Given the description of an element on the screen output the (x, y) to click on. 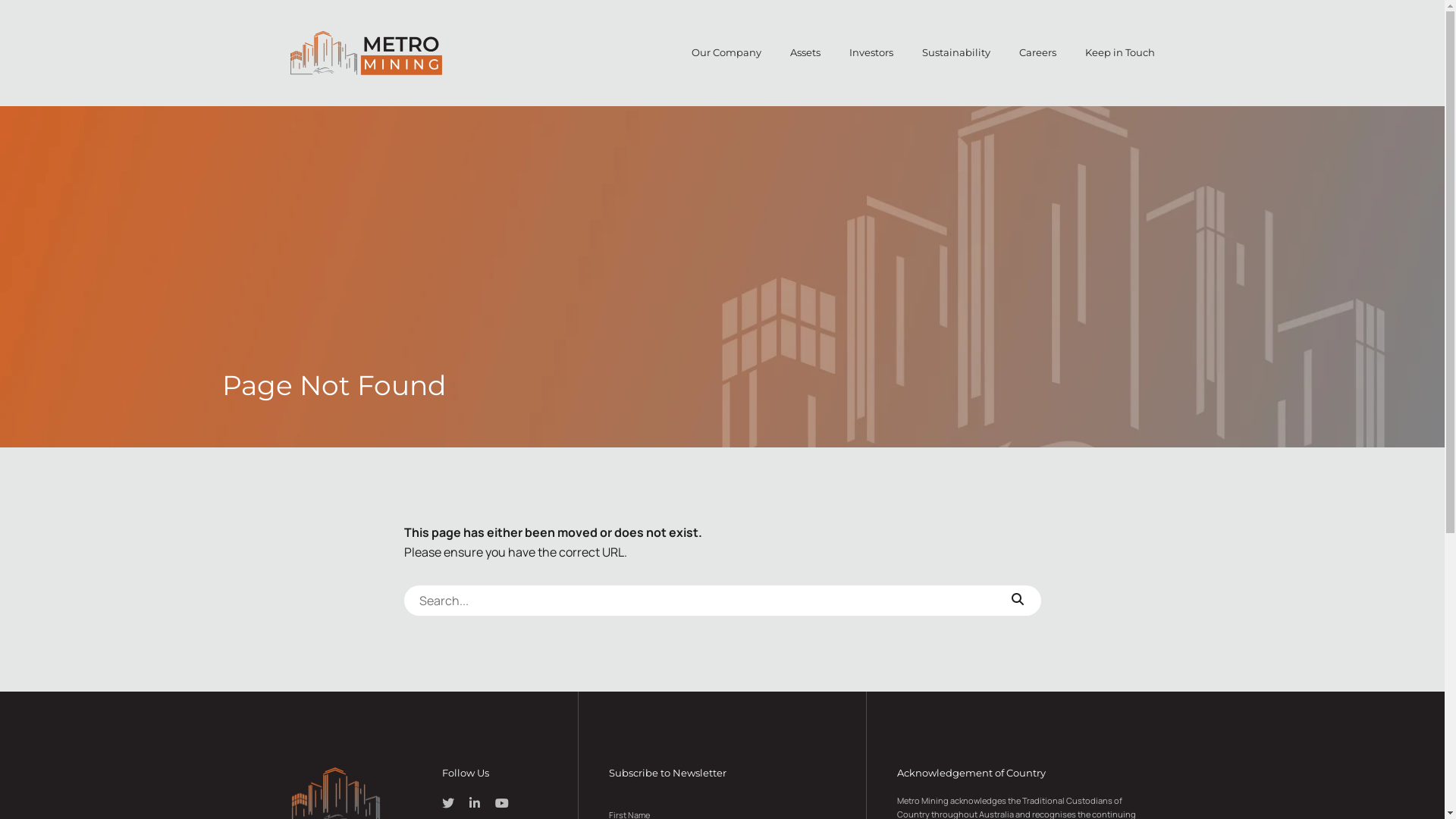
Investors Element type: text (871, 52)
Our Company Element type: text (726, 52)
Assets Element type: text (805, 52)
Keep in Touch Element type: text (1119, 52)
Sustainability Element type: text (956, 52)
Careers Element type: text (1037, 52)
